Given the description of an element on the screen output the (x, y) to click on. 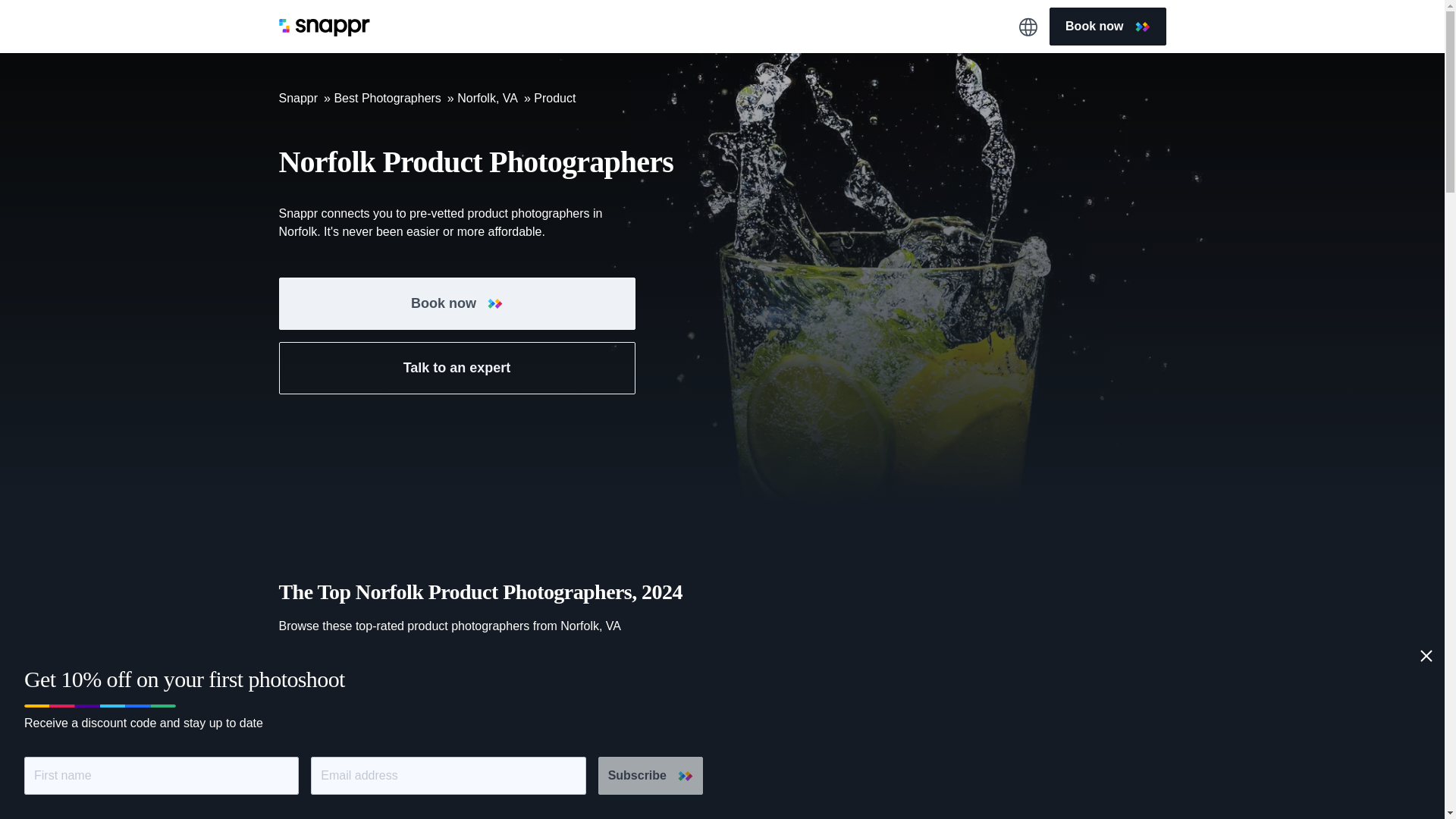
Book now (1107, 26)
Book now (456, 303)
Snappr (298, 97)
Product (554, 97)
Best Photographers (387, 97)
Subscribe (650, 775)
Talk to an expert (456, 367)
Norfolk, VA (487, 97)
